Given the description of an element on the screen output the (x, y) to click on. 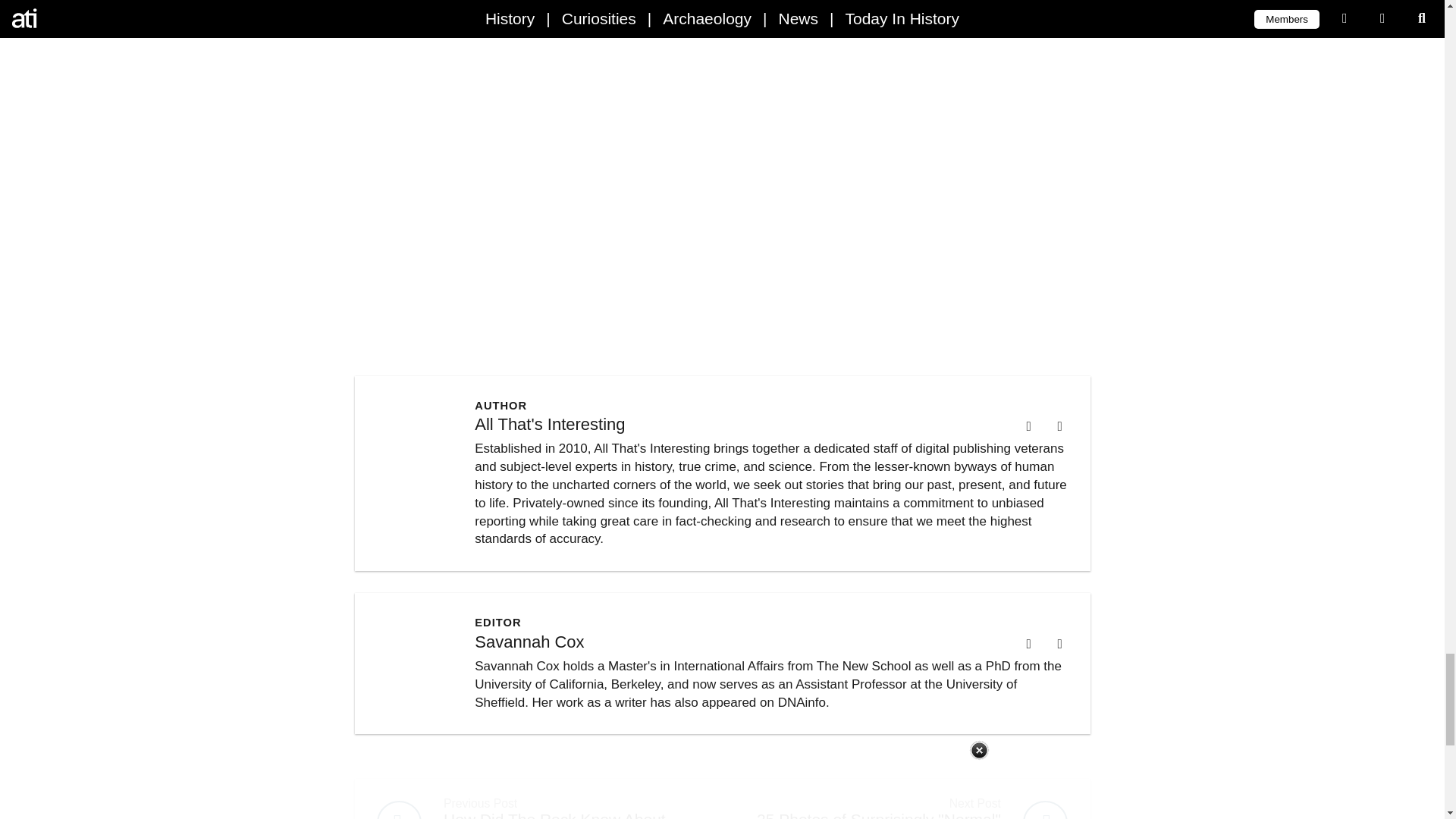
All That's Interesting (549, 424)
25 Photos of Surprisingly  (905, 798)
Savannah Cox (528, 641)
